Given the description of an element on the screen output the (x, y) to click on. 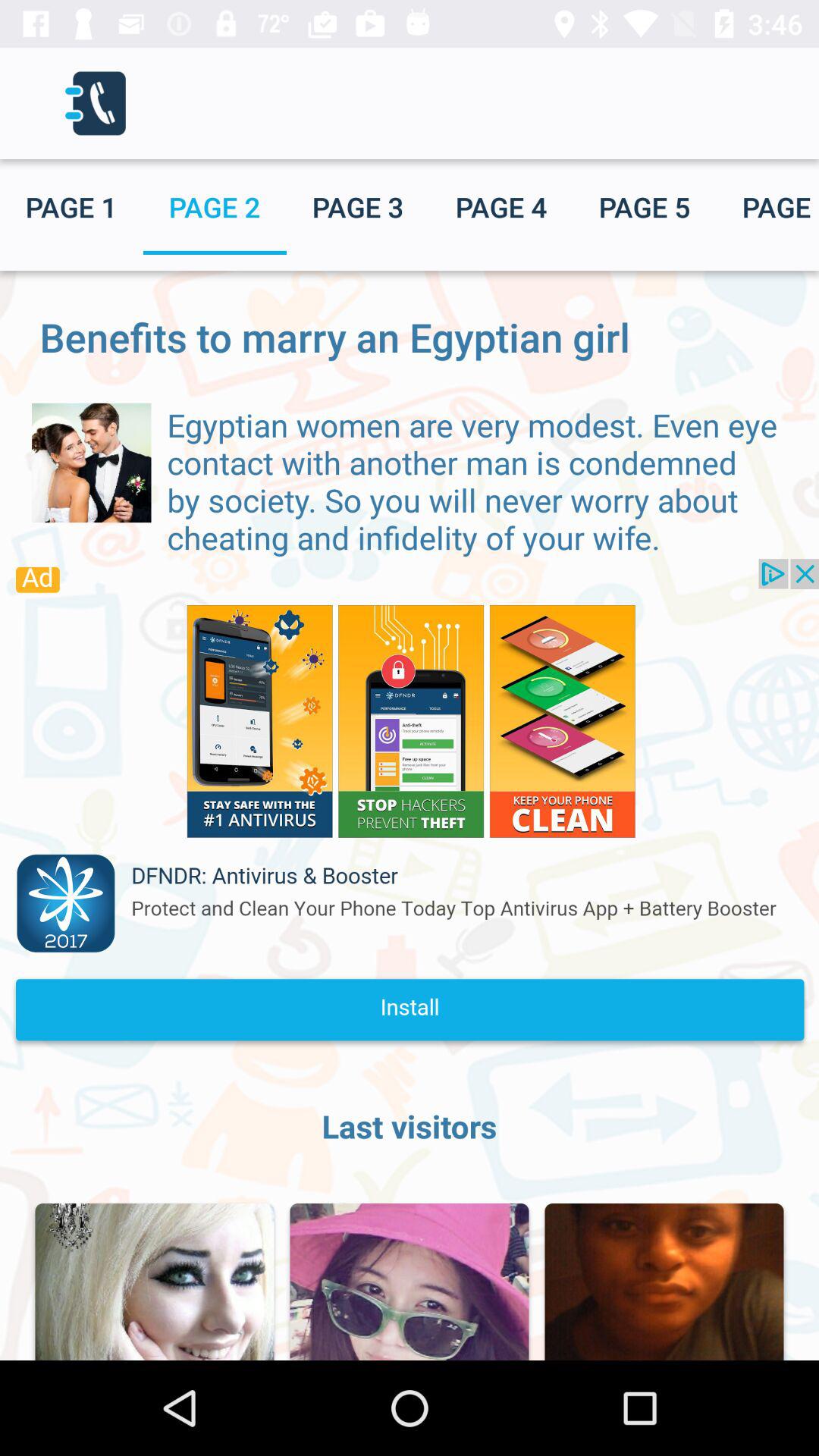
advertisement link (409, 807)
